Given the description of an element on the screen output the (x, y) to click on. 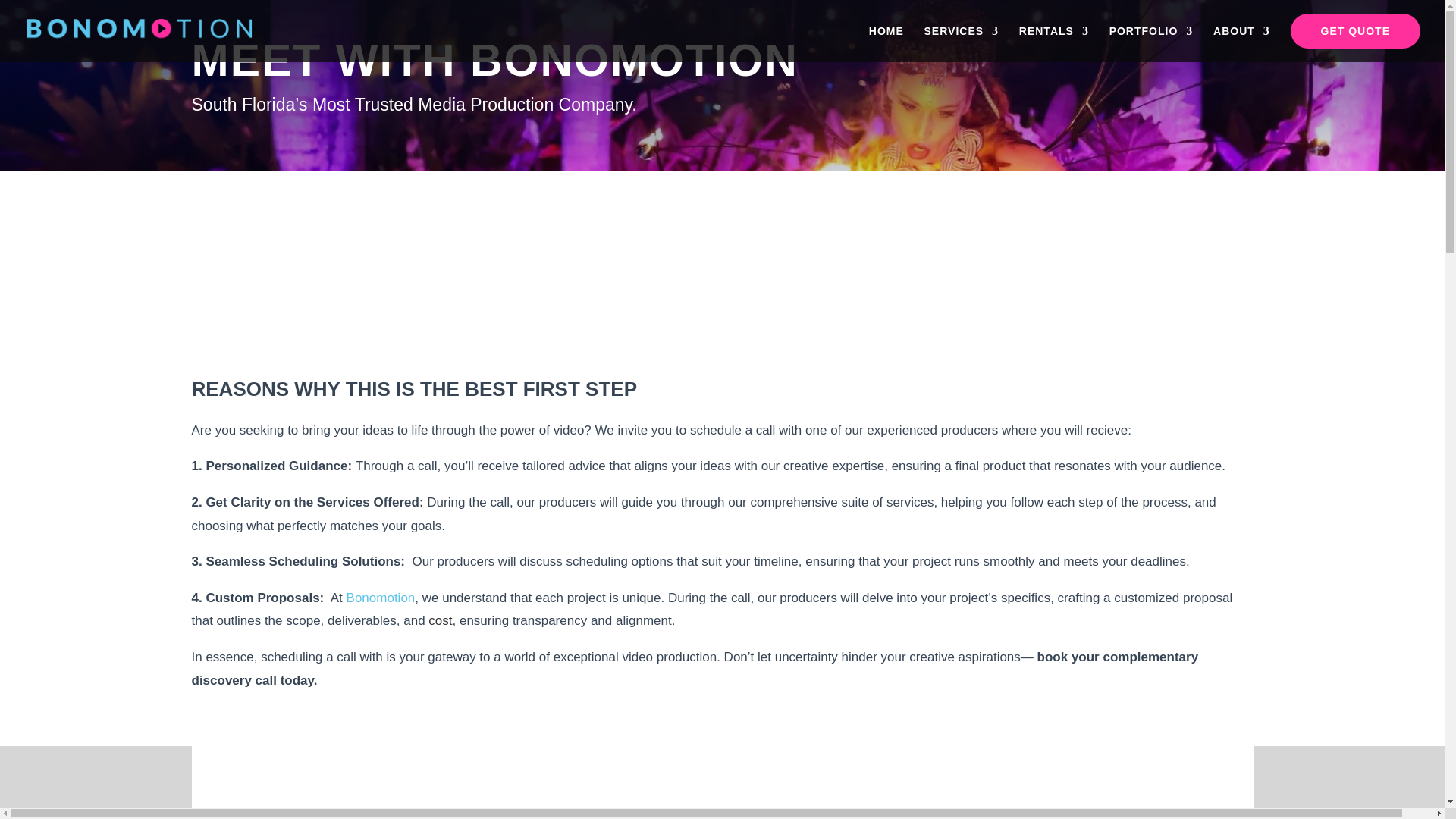
GET QUOTE (1355, 43)
SERVICES (961, 43)
Bonomotion (380, 597)
PORTFOLIO (1151, 43)
RENTALS (1054, 43)
cost (439, 620)
HOME (886, 43)
ABOUT (1240, 43)
